Given the description of an element on the screen output the (x, y) to click on. 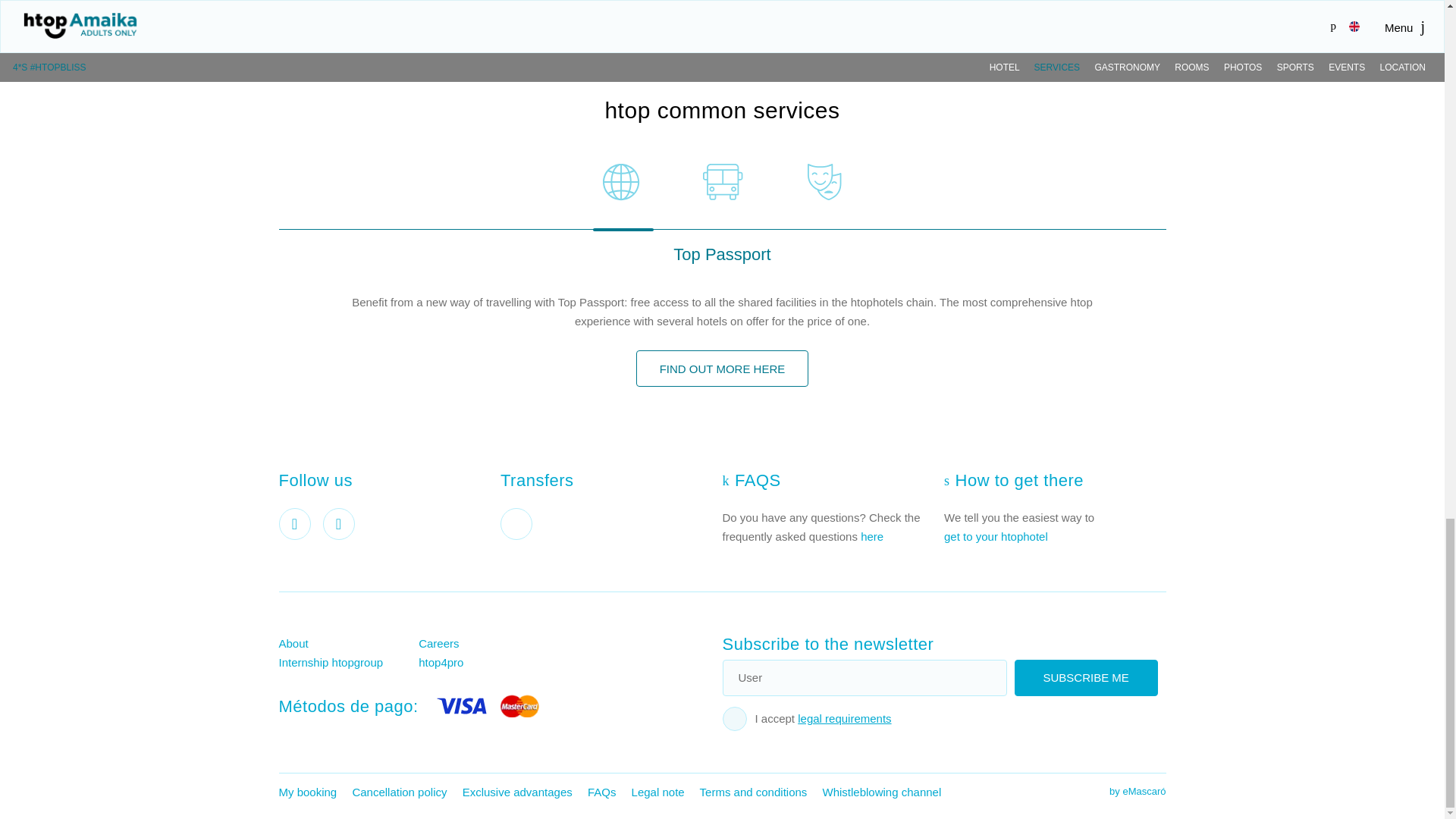
htop4pro (489, 661)
About (349, 642)
My booking (308, 791)
Careers (489, 642)
Internship htopgroup (349, 661)
Cancellation policy (399, 791)
